Given the description of an element on the screen output the (x, y) to click on. 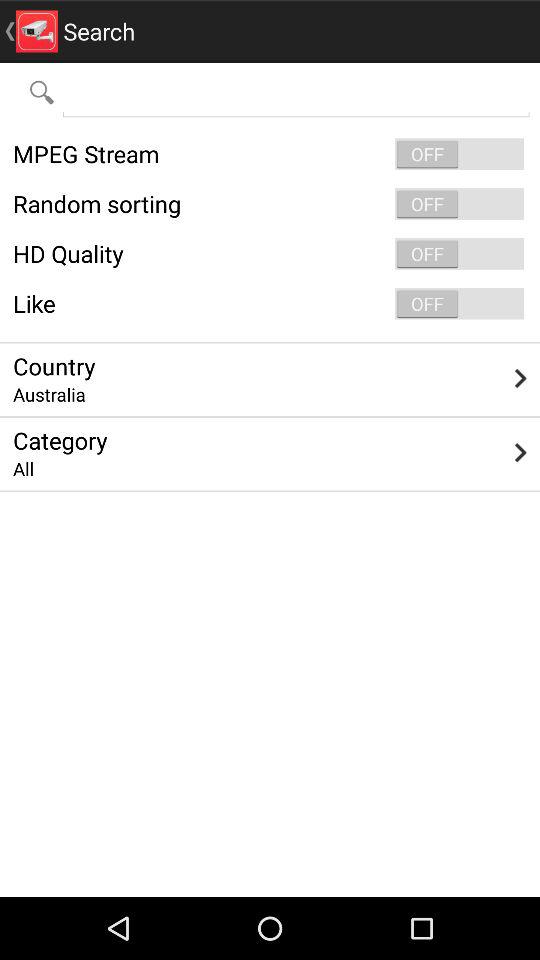
select item below mpeg stream (269, 203)
